Given the description of an element on the screen output the (x, y) to click on. 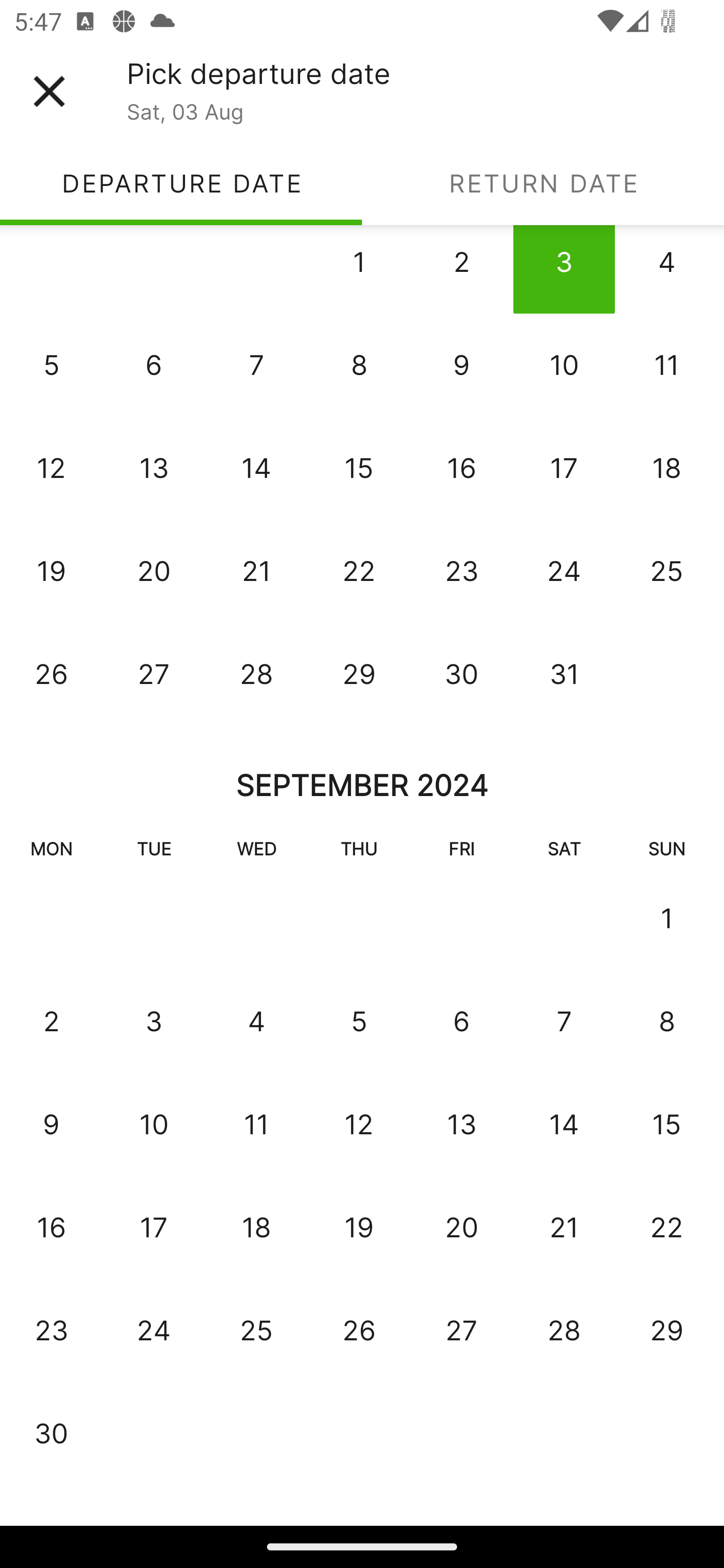
Return Date RETURN DATE (543, 183)
